Given the description of an element on the screen output the (x, y) to click on. 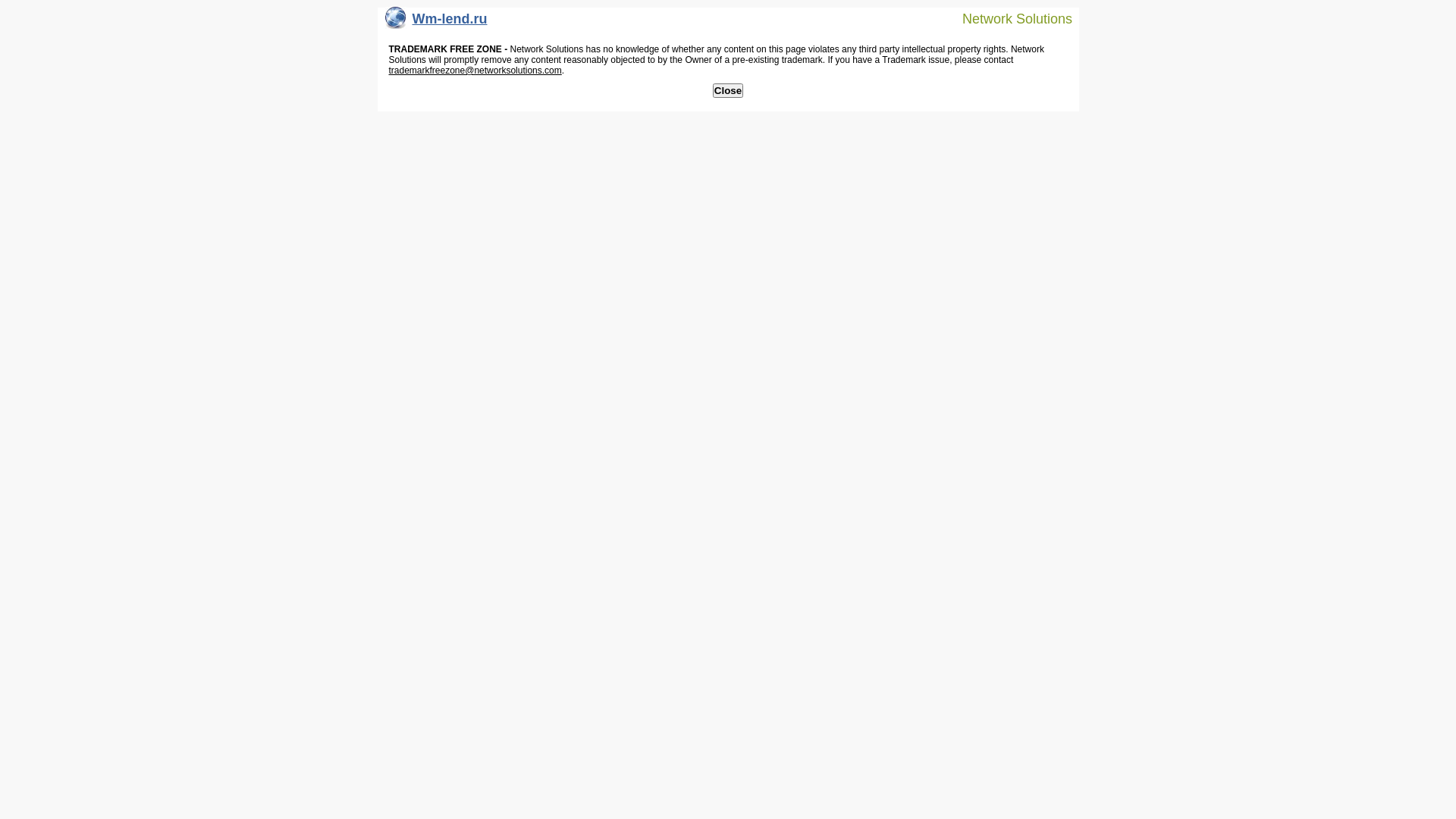
Close Element type: text (727, 90)
Wm-lend.ru Element type: text (436, 21)
Network Solutions Element type: text (1007, 17)
trademarkfreezone@networksolutions.com Element type: text (474, 70)
